Given the description of an element on the screen output the (x, y) to click on. 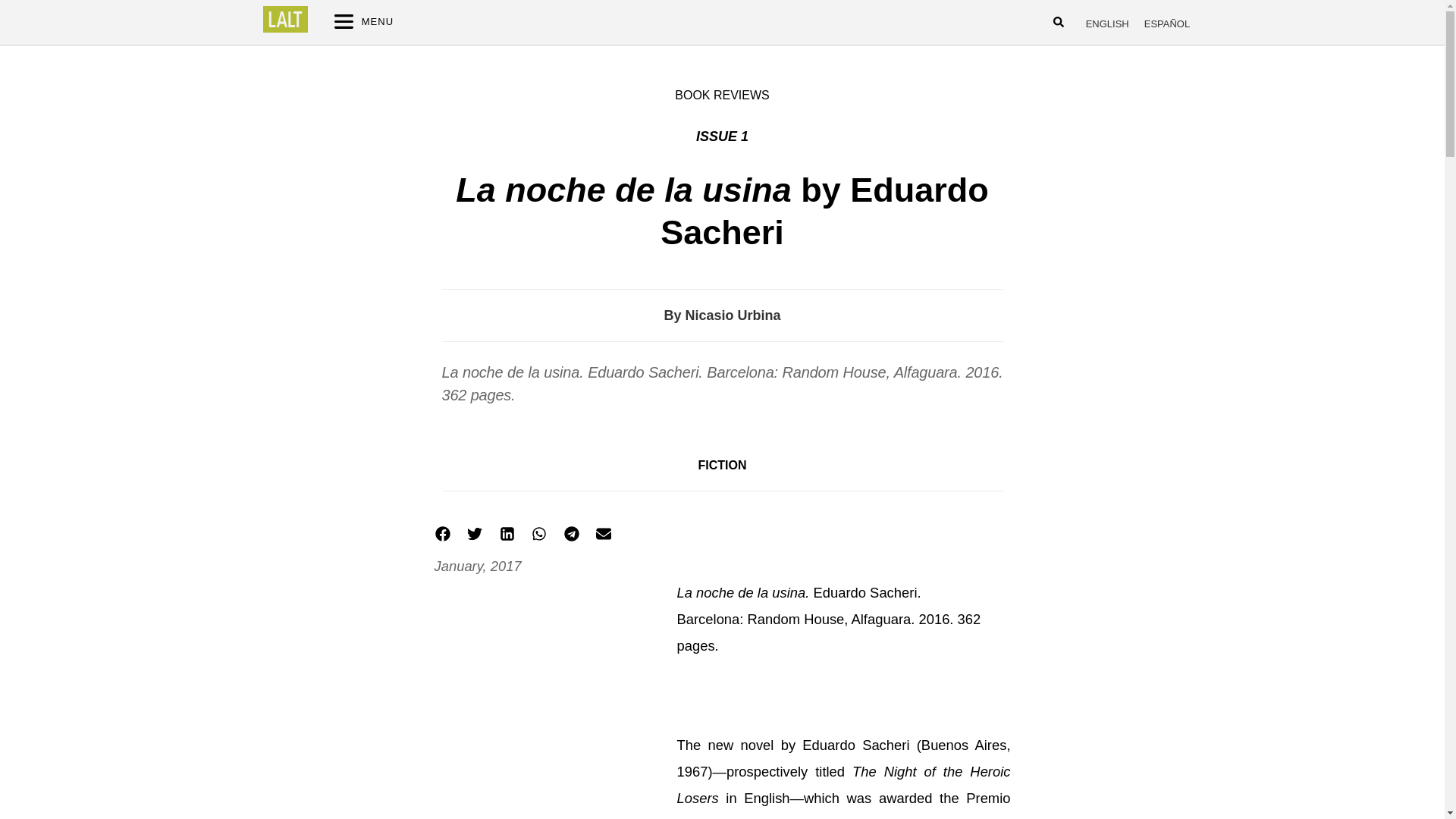
La noche de la usina by Eduardo Sacheri 1 (554, 703)
ISSUE 1 (721, 136)
MENU (624, 22)
FICTION (721, 464)
ENGLISH (1107, 23)
Nicasio Urbina (732, 314)
January, 2017 (477, 566)
